Given the description of an element on the screen output the (x, y) to click on. 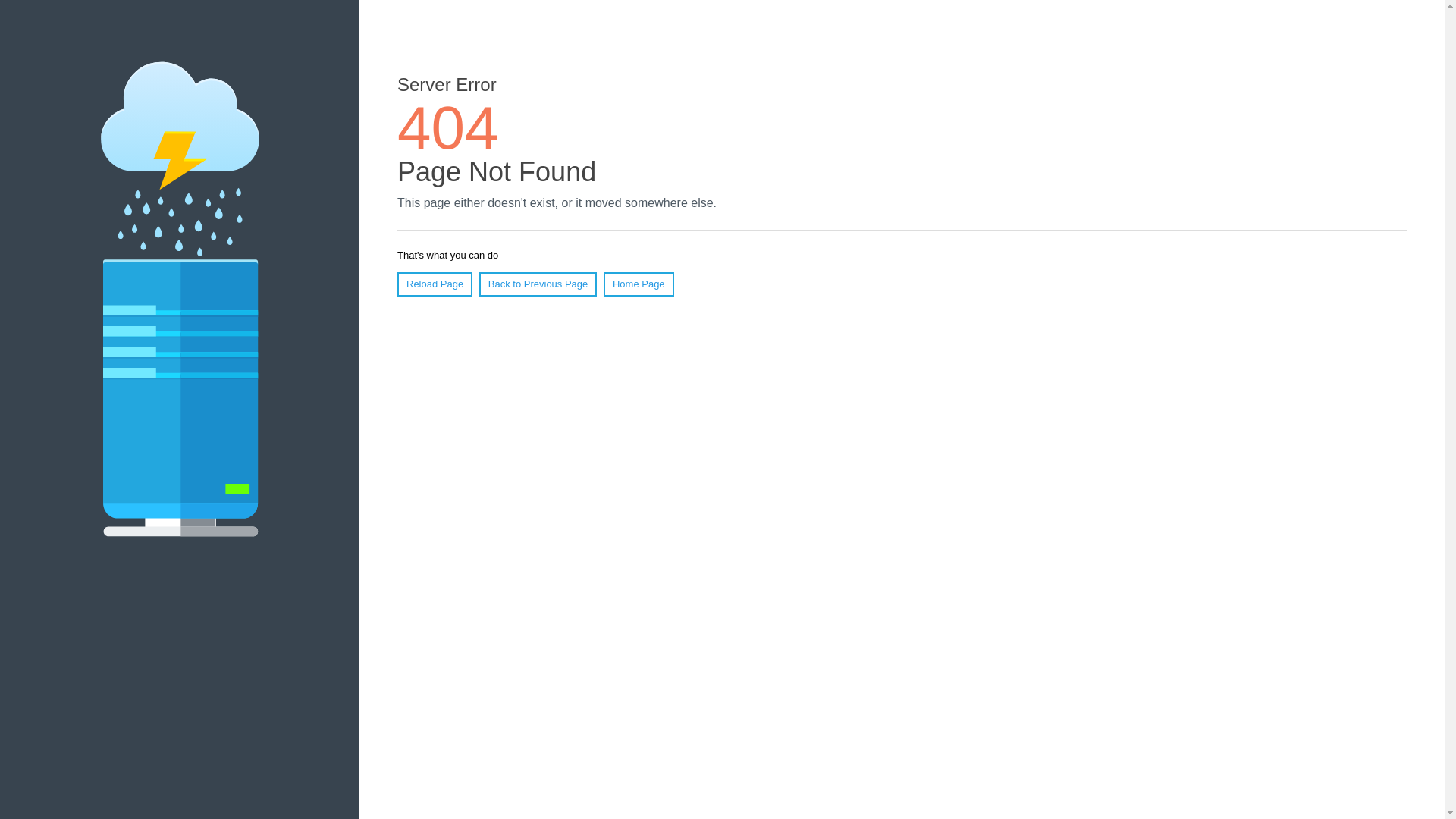
Home Page Element type: text (638, 284)
Back to Previous Page Element type: text (538, 284)
Reload Page Element type: text (434, 284)
